Given the description of an element on the screen output the (x, y) to click on. 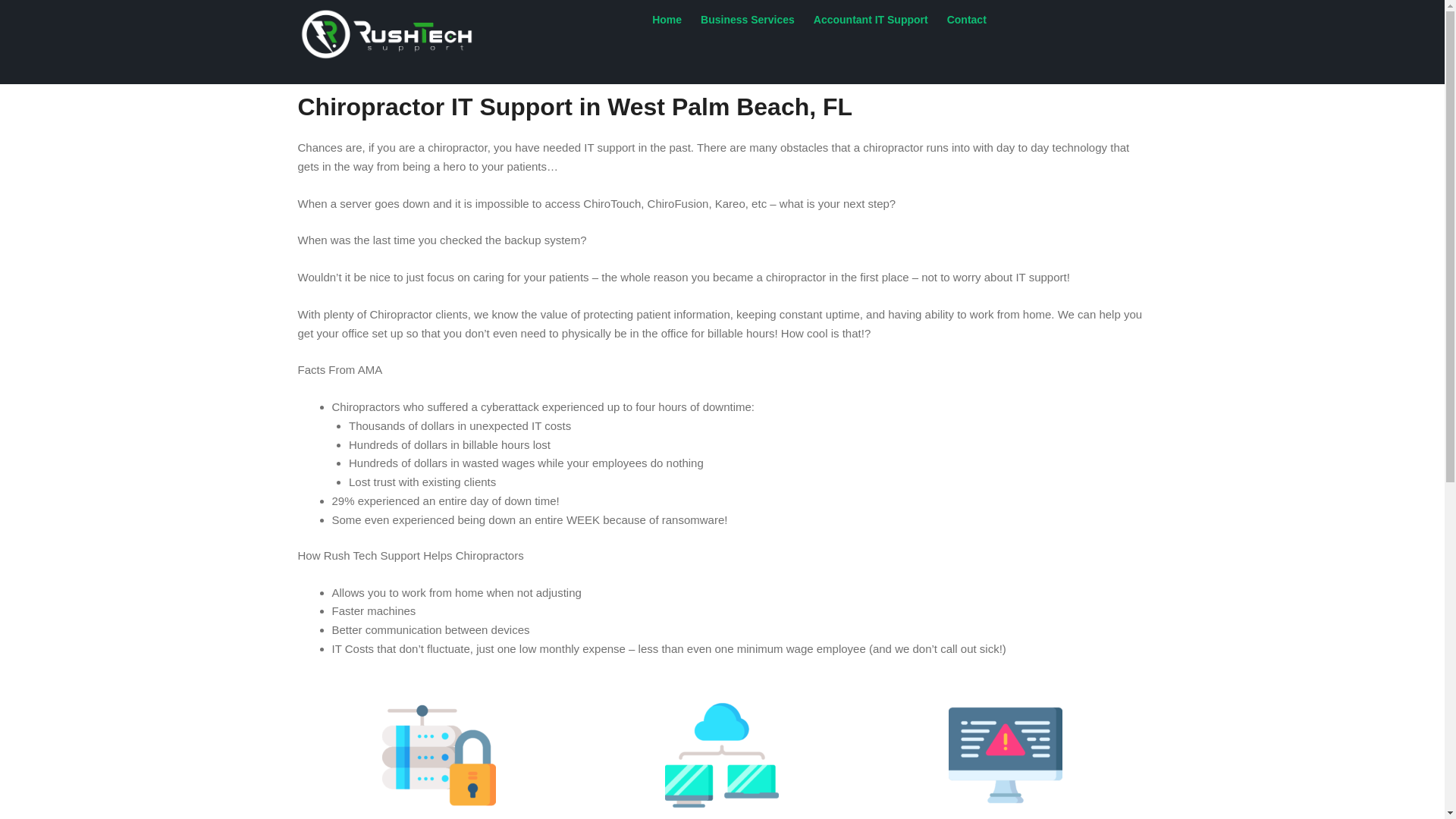
Accountant IT Support (870, 19)
Business Services (748, 19)
Home (666, 19)
Contact (966, 19)
